Given the description of an element on the screen output the (x, y) to click on. 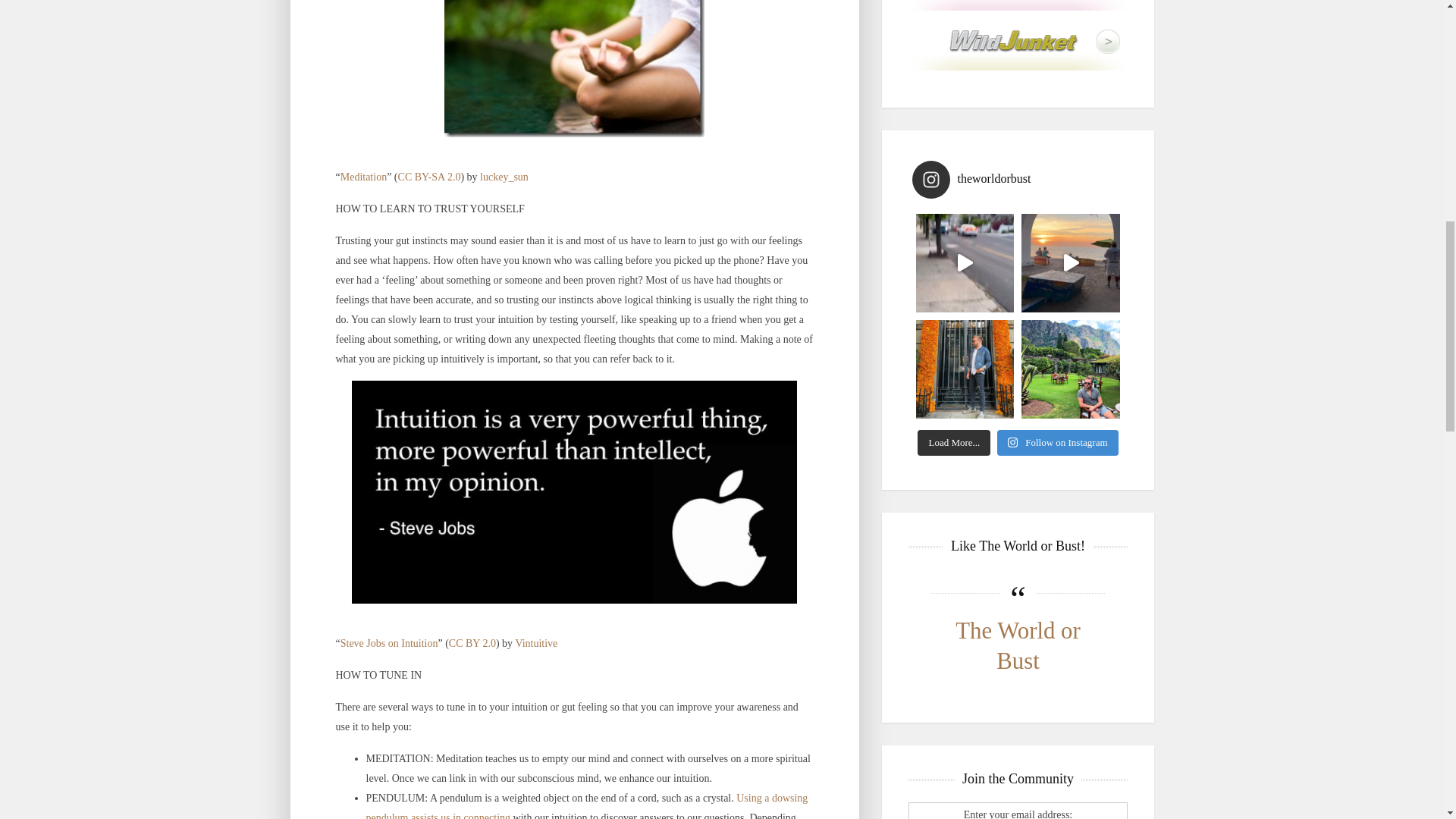
CC BY 2.0 (472, 643)
Steve Jobs on Intuition (389, 643)
Vintuitive (536, 643)
Using a dowsing pendulum assists us in connecting (586, 805)
Meditation (363, 176)
CC BY-SA 2.0 (429, 176)
